Given the description of an element on the screen output the (x, y) to click on. 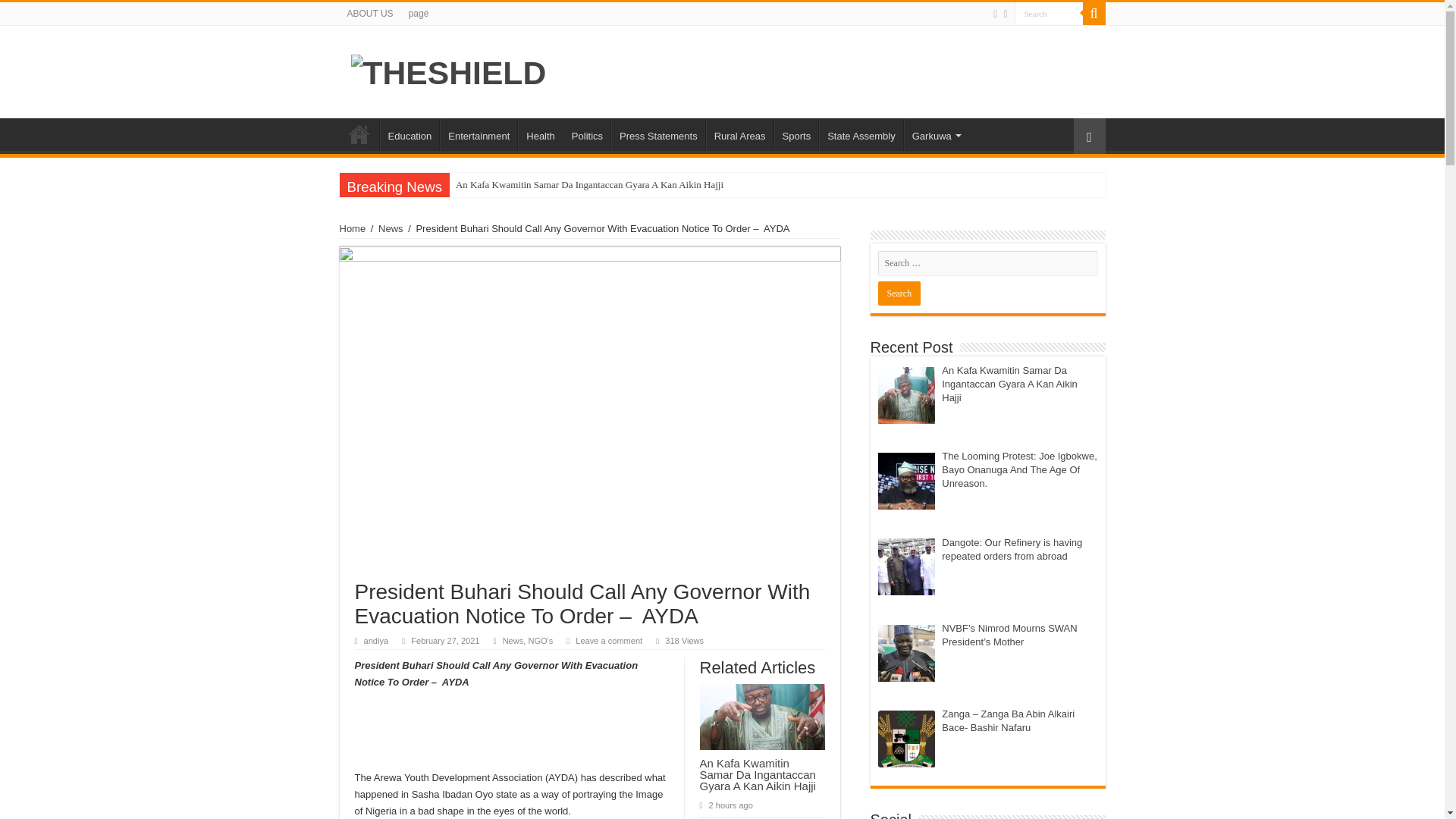
Politics (586, 133)
Search (899, 293)
Health (540, 133)
Press Statements (657, 133)
Search (1048, 13)
Sports (796, 133)
Search (899, 293)
Rural Areas (739, 133)
THESHIELD (448, 70)
State Assembly (860, 133)
Search (1048, 13)
page (418, 13)
ABOUT US (370, 13)
Search (1094, 13)
